Given the description of an element on the screen output the (x, y) to click on. 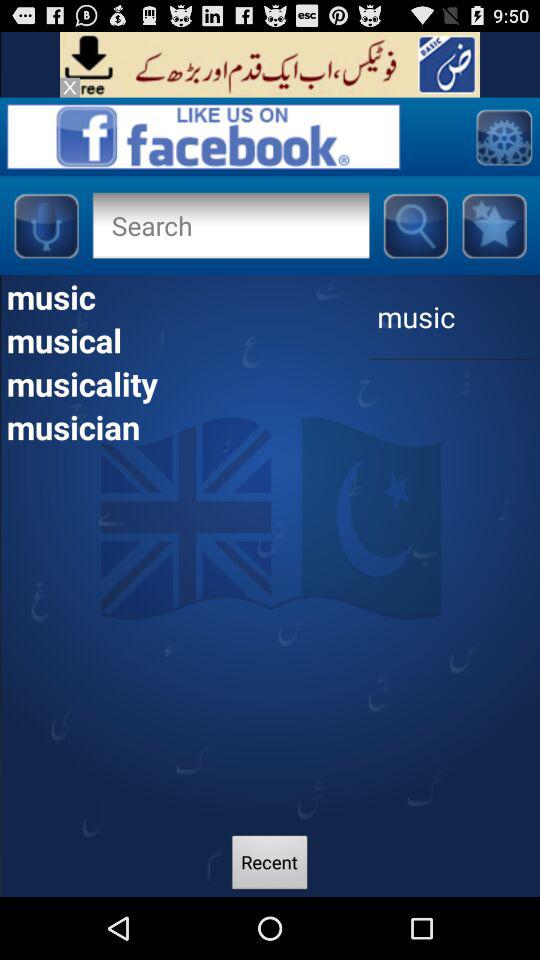
settings (503, 136)
